Given the description of an element on the screen output the (x, y) to click on. 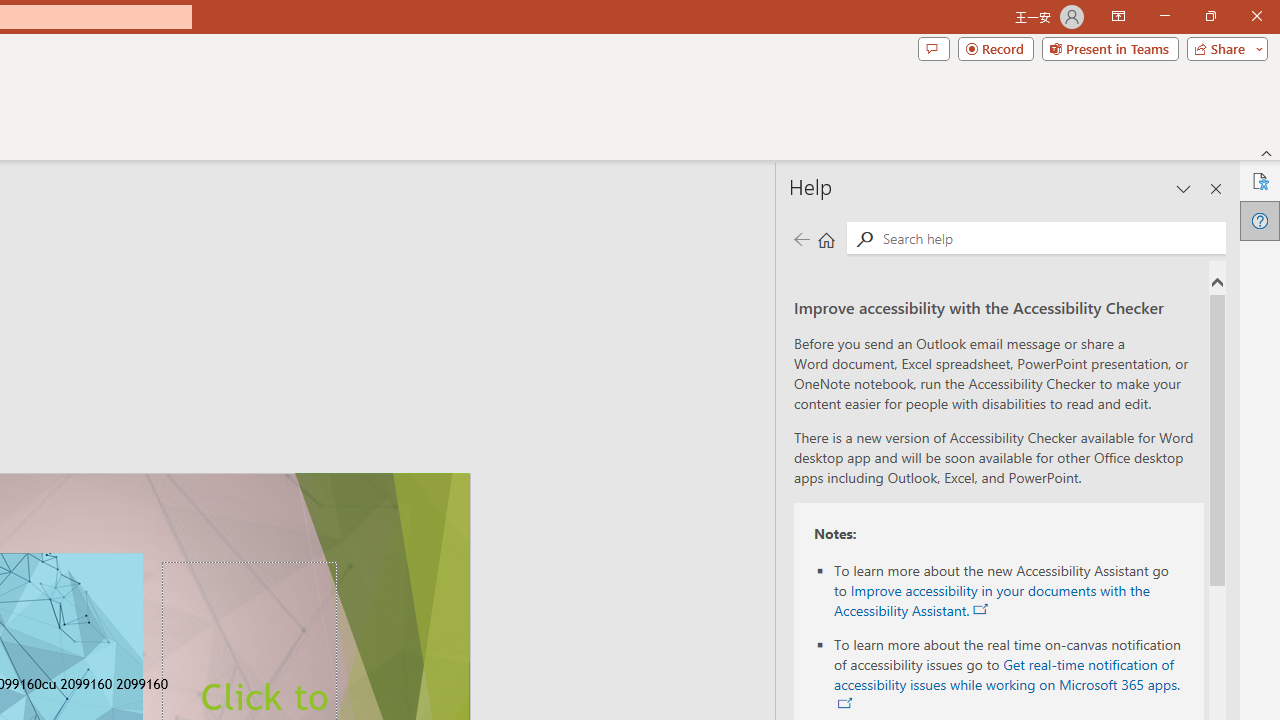
2304.09121v3.pdf (962, 47)
2404.05719v1.pdf (1192, 446)
2301.12597v3.pdf (1192, 313)
Symbol-llm-v2.pdf (962, 180)
2403.02502v1.pdf (1077, 180)
symbol_LLM.pdf (846, 180)
2401.17399v1.pdf (1077, 47)
2406.12373v2.pdf (1077, 446)
2312.03032v2.pdf (962, 446)
2311.03658v2.pdf (846, 446)
